Given the description of an element on the screen output the (x, y) to click on. 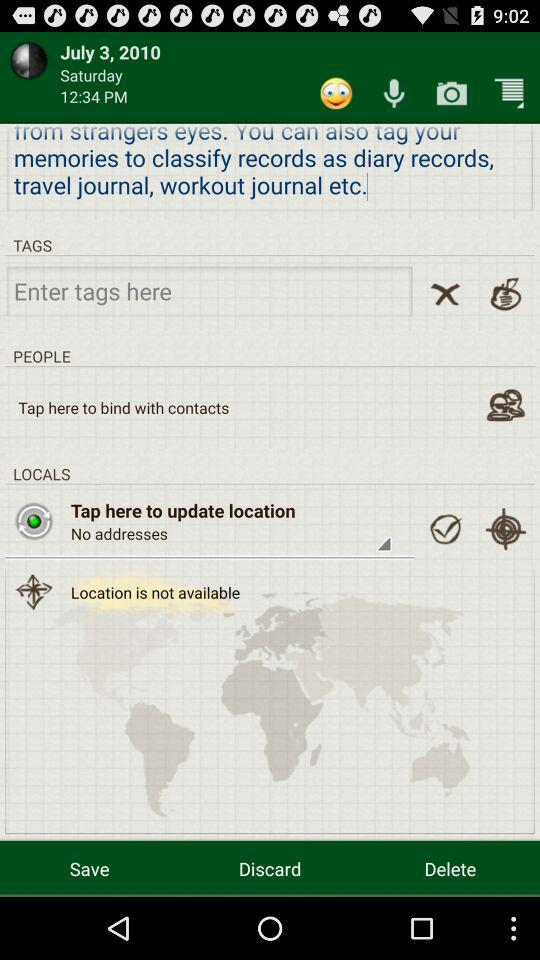
turn on the icon next to the tap here to item (34, 521)
